Given the description of an element on the screen output the (x, y) to click on. 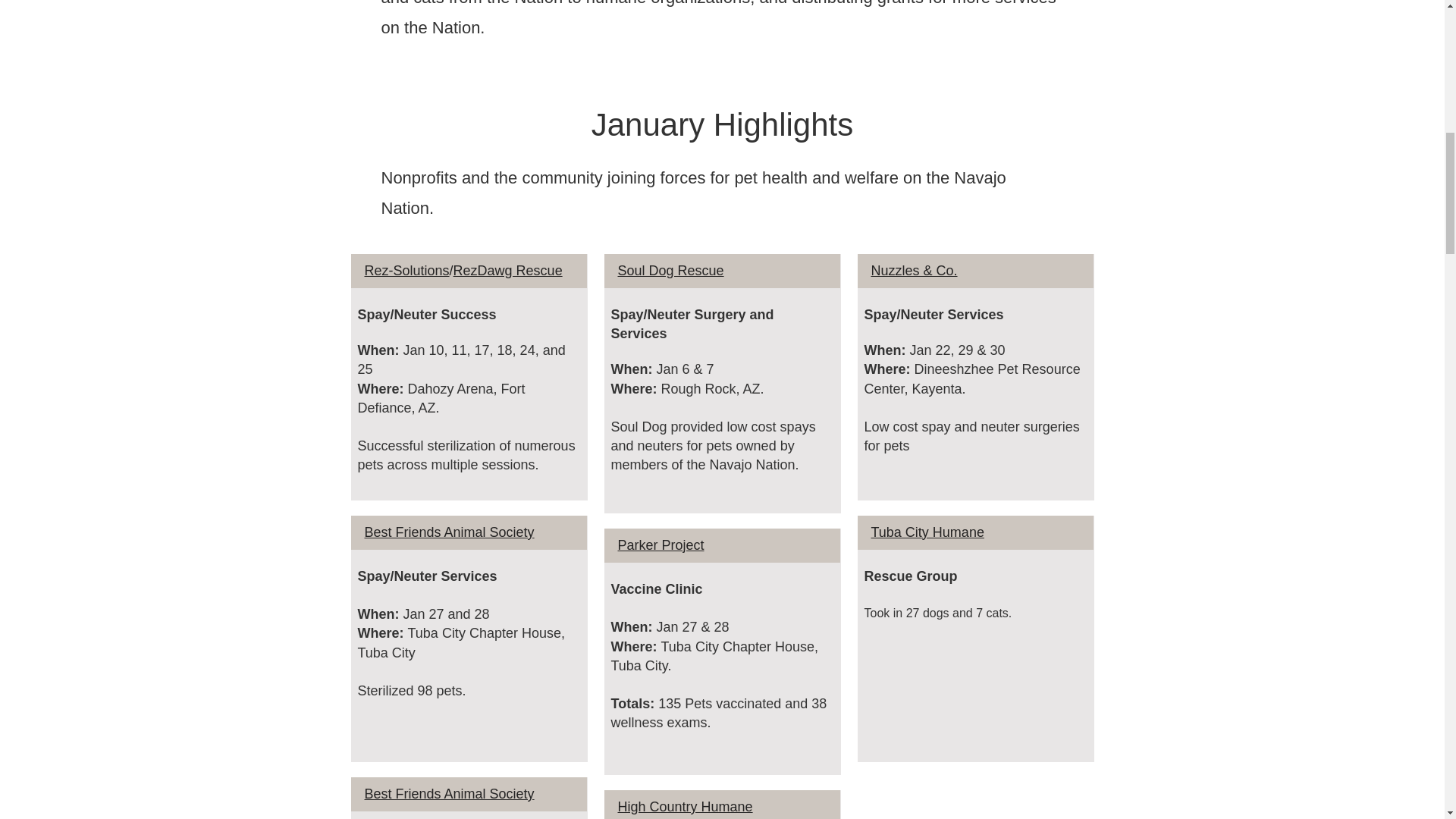
RezDawg Rescue (507, 270)
Best Friends Animal Society (449, 793)
Tuba City Humane (927, 531)
High Country Humane (684, 806)
Best Friends Animal Society (449, 531)
Parker Project (660, 544)
Rez-Solutions (406, 270)
Soul Dog Rescue (670, 270)
